Given the description of an element on the screen output the (x, y) to click on. 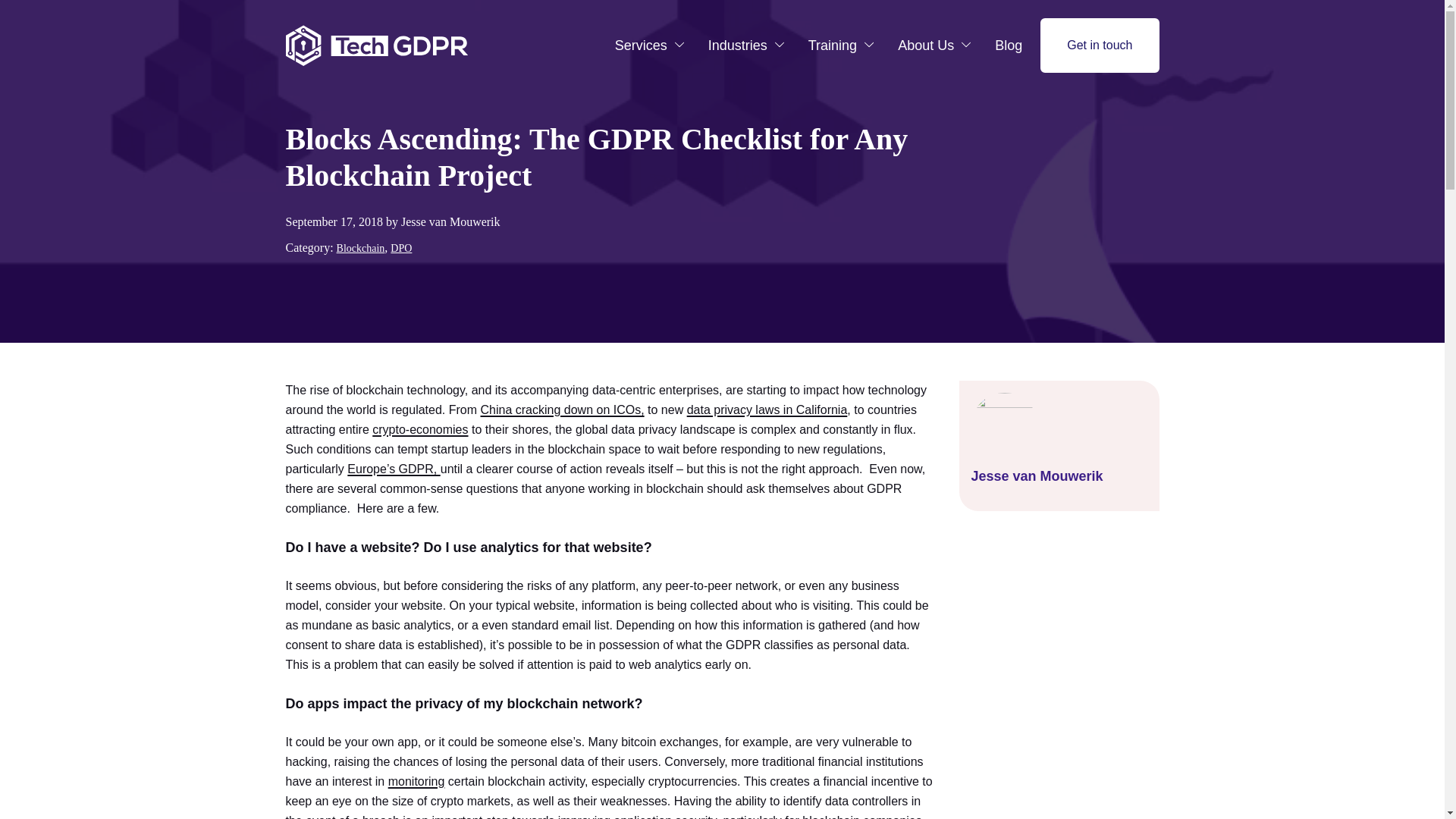
Blog (1008, 44)
Training (840, 44)
Industries (745, 44)
About Us (934, 44)
Services (649, 44)
